Given the description of an element on the screen output the (x, y) to click on. 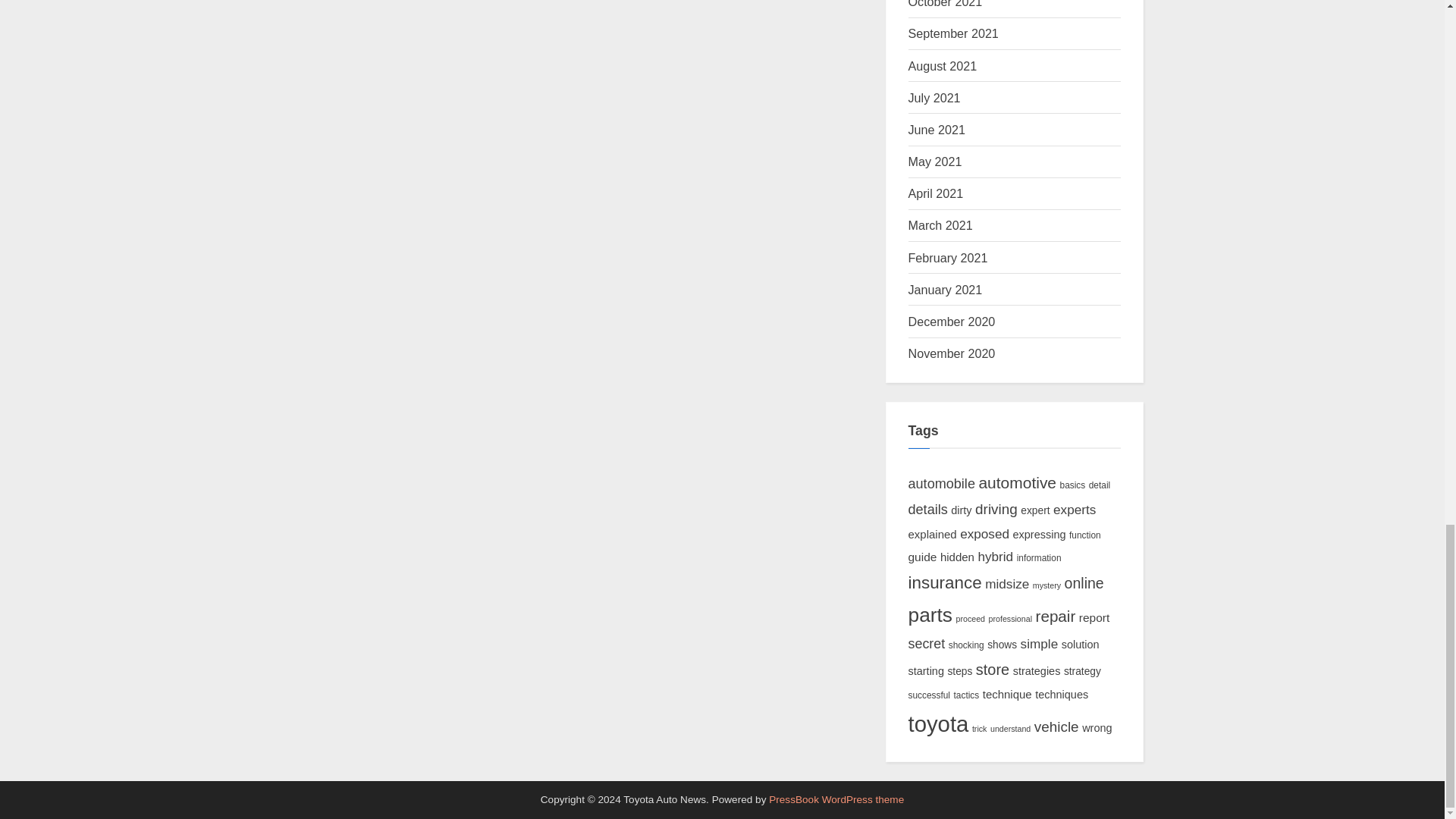
October 2021 (945, 4)
